Given the description of an element on the screen output the (x, y) to click on. 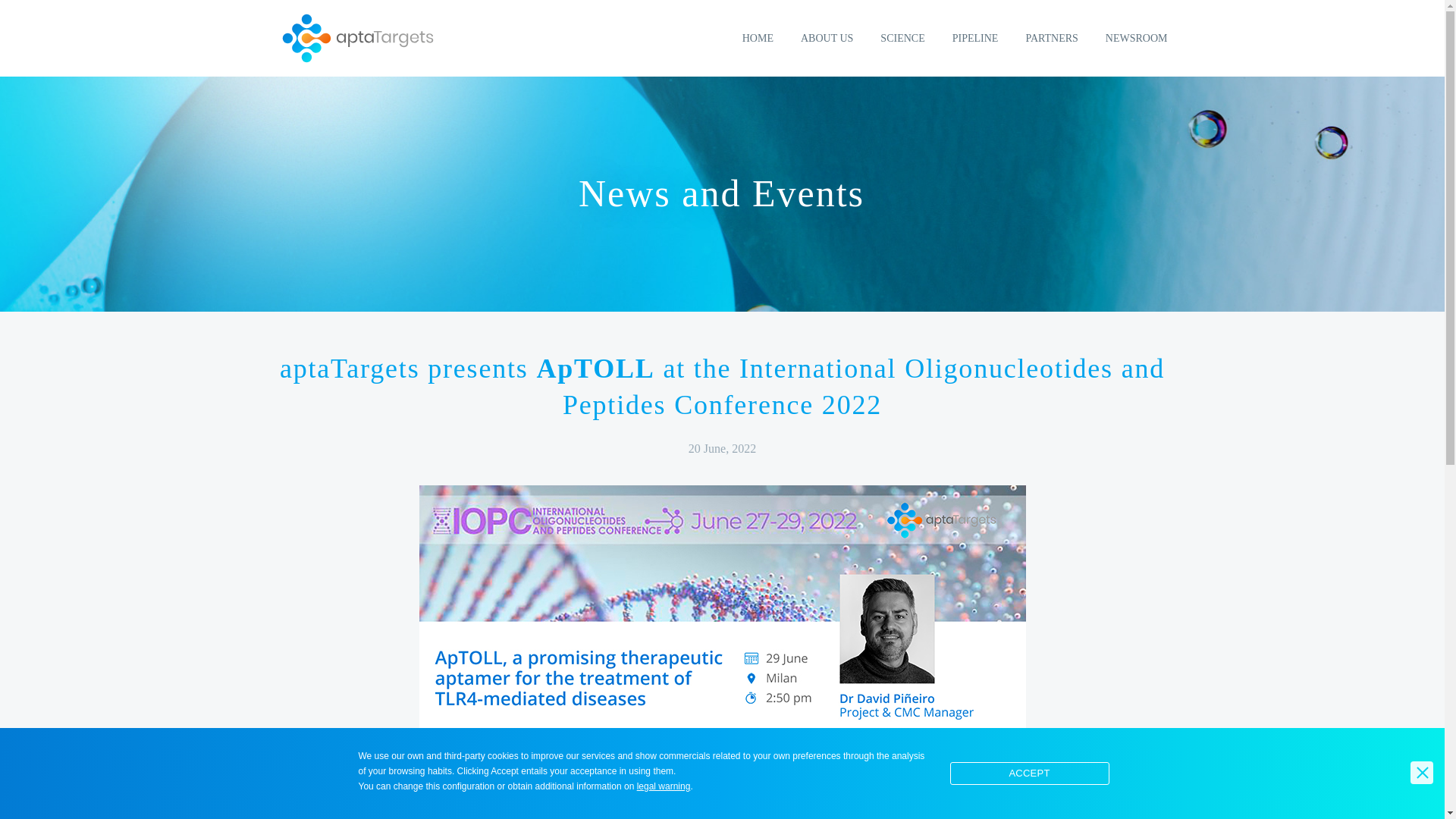
ACCEPT (1028, 773)
NEWSROOM (1136, 37)
PARTNERS (1051, 37)
SCIENCE (902, 37)
HOME (757, 37)
PIPELINE (975, 37)
legal warning (663, 786)
ABOUT US (826, 37)
